Given the description of an element on the screen output the (x, y) to click on. 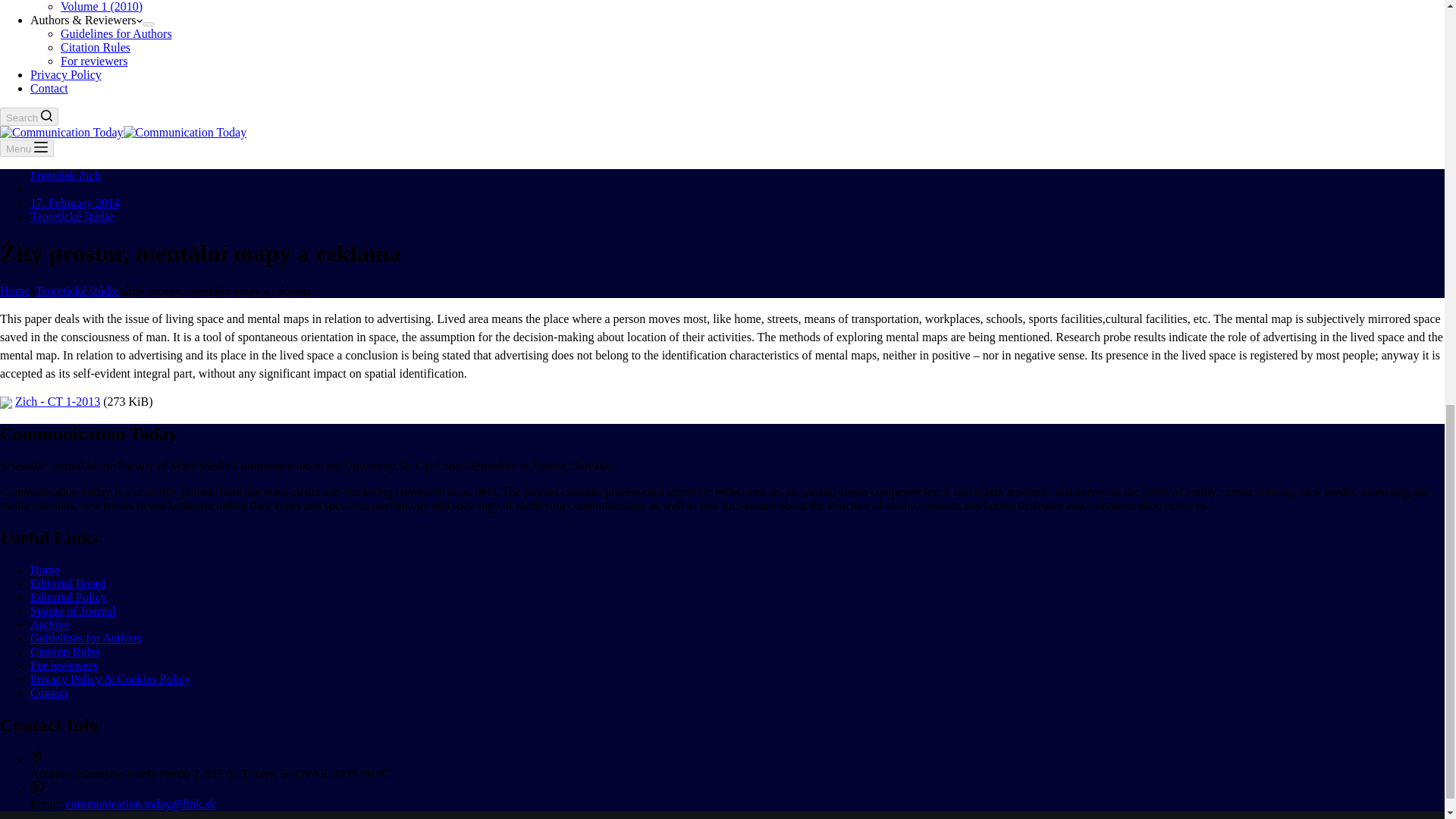
Download Zich - CT 1-2013 (57, 400)
